Given the description of an element on the screen output the (x, y) to click on. 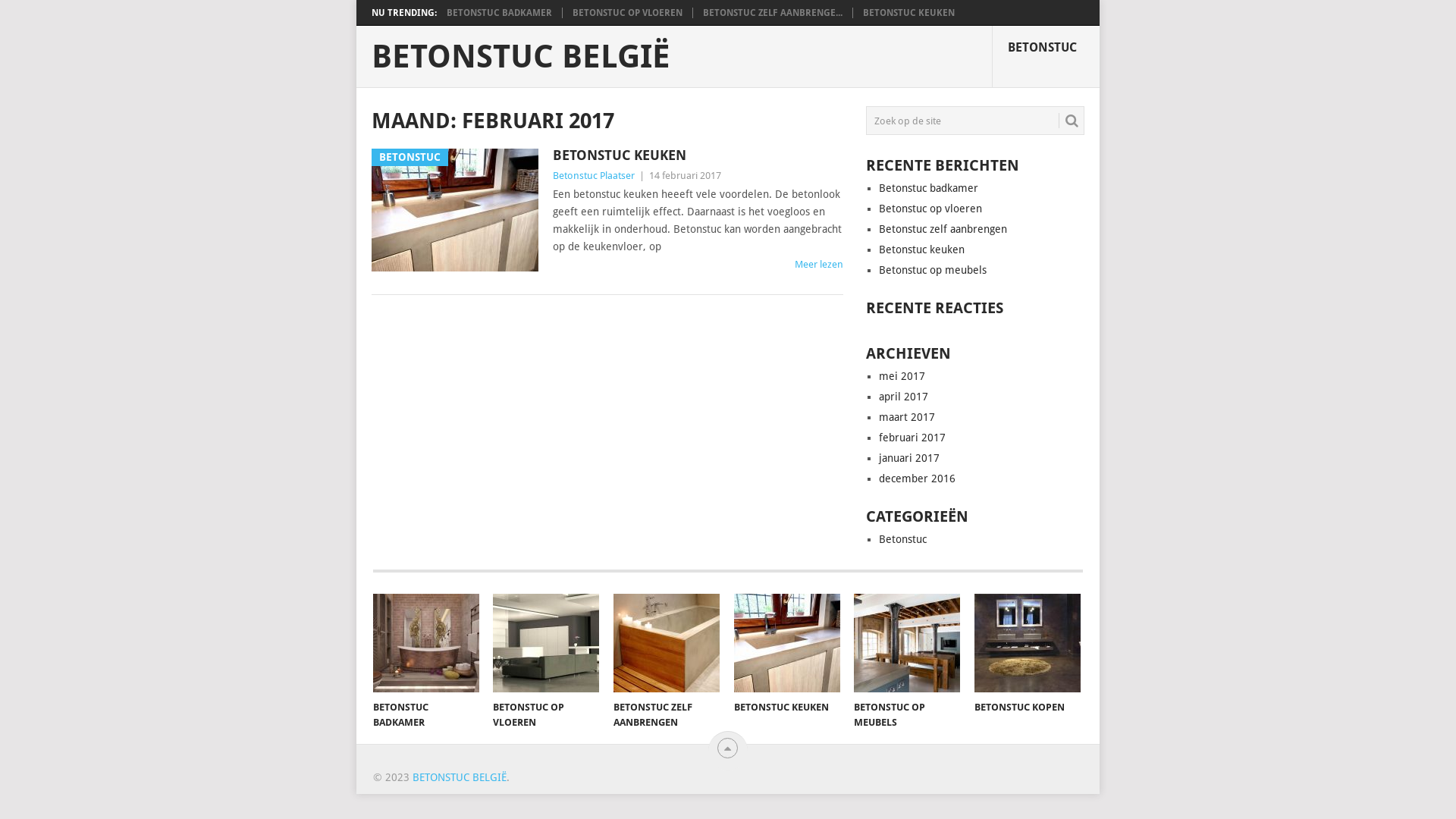
Betonstuc op vloeren Element type: text (930, 208)
BETONSTUC OP VLOEREN Element type: text (545, 642)
BETONSTUC BADKAMER Element type: text (499, 12)
Betonstuc Element type: text (902, 539)
Betonstuc op meubels Element type: text (932, 269)
BETONSTUC OP MEUBELS Element type: text (906, 642)
mei 2017 Element type: text (901, 376)
BETONSTUC ZELF AANBRENGEN Element type: text (666, 642)
BETONSTUC KOPEN Element type: text (1027, 642)
BETONSTUC ZELF AANBRENGE... Element type: text (772, 12)
BETONSTUC KEUKEN Element type: text (698, 154)
BETONSTUC KEUKEN Element type: text (908, 12)
Betonstuc keuken Element type: text (921, 249)
Betonstuc badkamer Element type: text (928, 188)
BETONSTUC KEUKEN Element type: text (787, 642)
Betonstuc Plaatser Element type: text (593, 175)
maart 2017 Element type: text (906, 417)
december 2016 Element type: text (916, 478)
april 2017 Element type: text (903, 396)
BETONSTUC OP VLOEREN Element type: text (627, 12)
BETONSTUC BADKAMER Element type: text (426, 642)
Betonstuc zelf aanbrengen Element type: text (942, 228)
BETONSTUC Element type: text (1045, 56)
januari 2017 Element type: text (908, 457)
BETONSTUC Element type: text (454, 209)
februari 2017 Element type: text (911, 437)
Meer lezen Element type: text (818, 263)
